Given the description of an element on the screen output the (x, y) to click on. 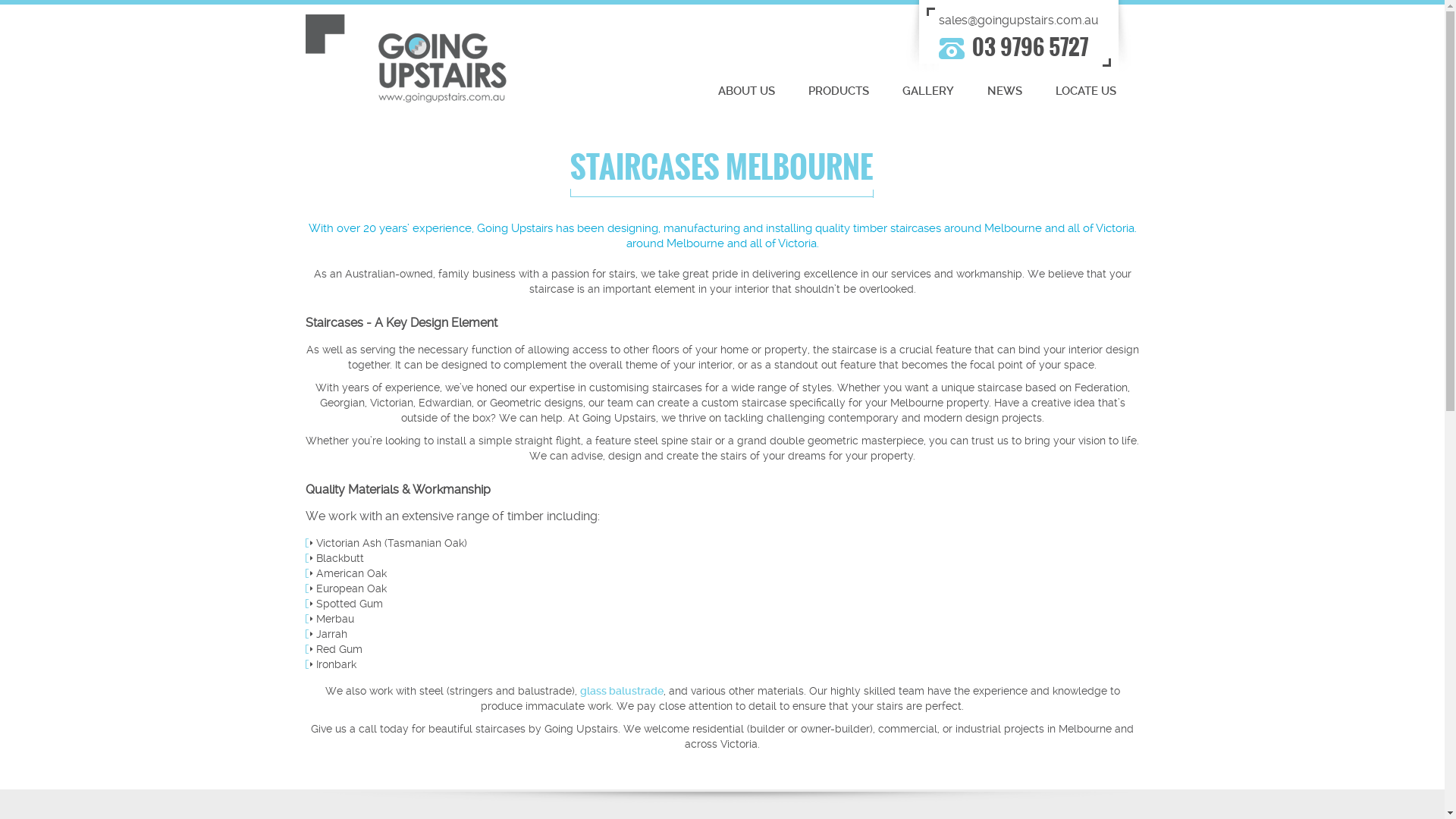
LOCATE US Element type: text (1085, 92)
glass balustrade Element type: text (620, 690)
PRODUCTS Element type: text (838, 92)
Staircase Melbourne Element type: hover (404, 57)
ABOUT US Element type: text (746, 92)
sales@goingupstairs.com.au Element type: text (1018, 19)
03 9796 5727 Element type: text (1030, 47)
GALLERY Element type: text (927, 92)
NEWS Element type: text (1004, 92)
